Given the description of an element on the screen output the (x, y) to click on. 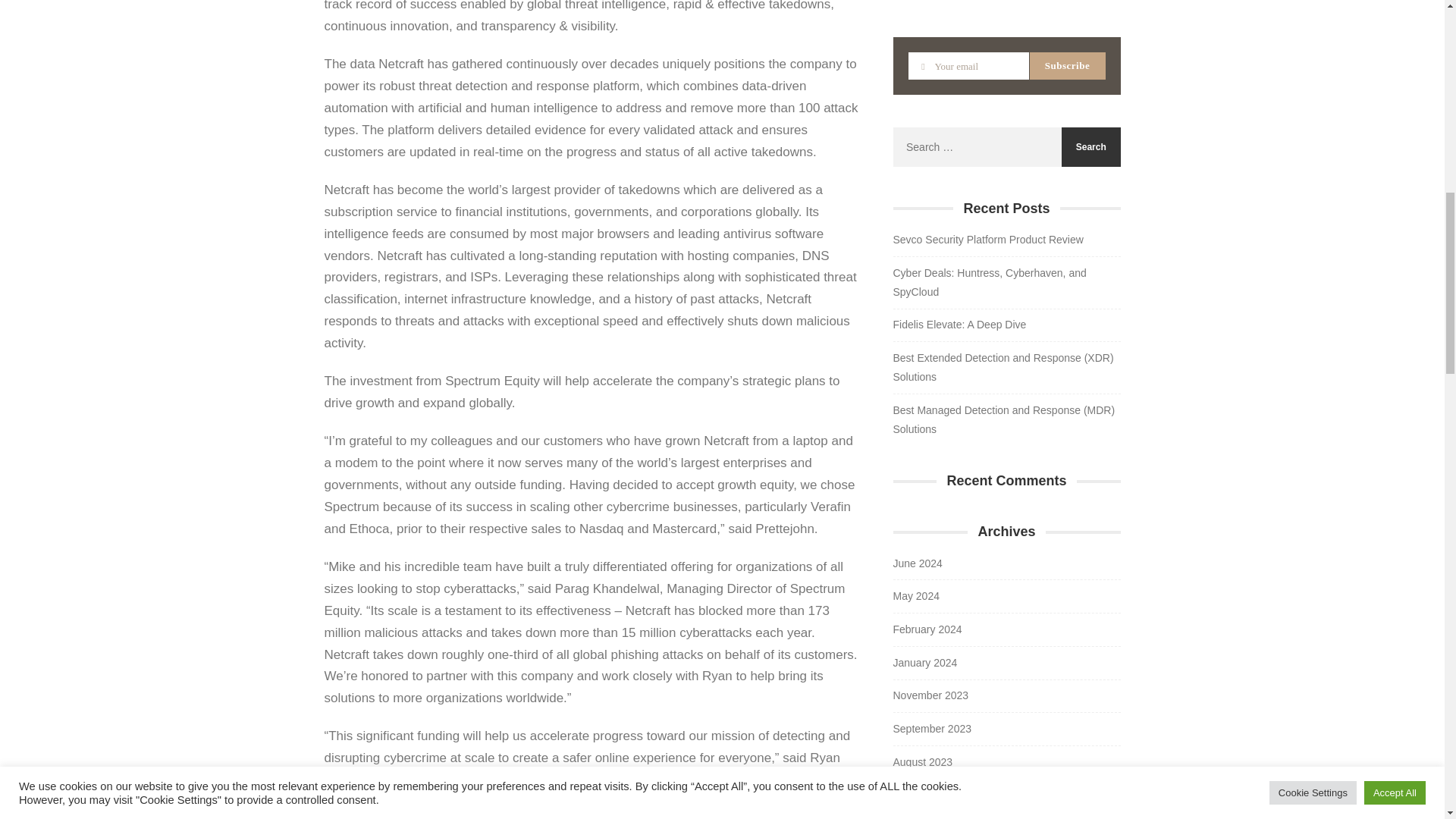
Search (1091, 146)
Search (1091, 146)
